Given the description of an element on the screen output the (x, y) to click on. 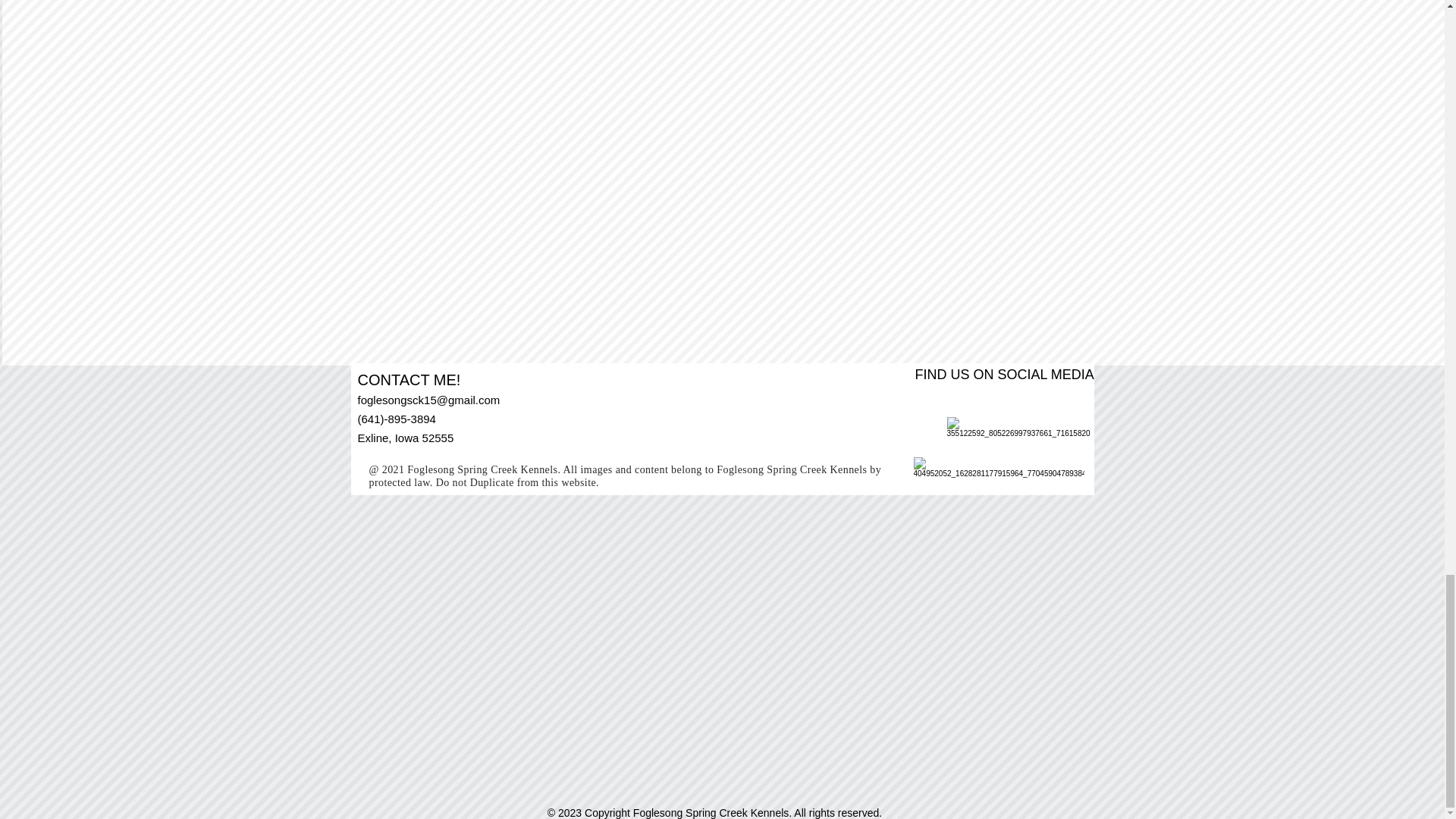
foglesongs.jpg (468, 152)
